Given the description of an element on the screen output the (x, y) to click on. 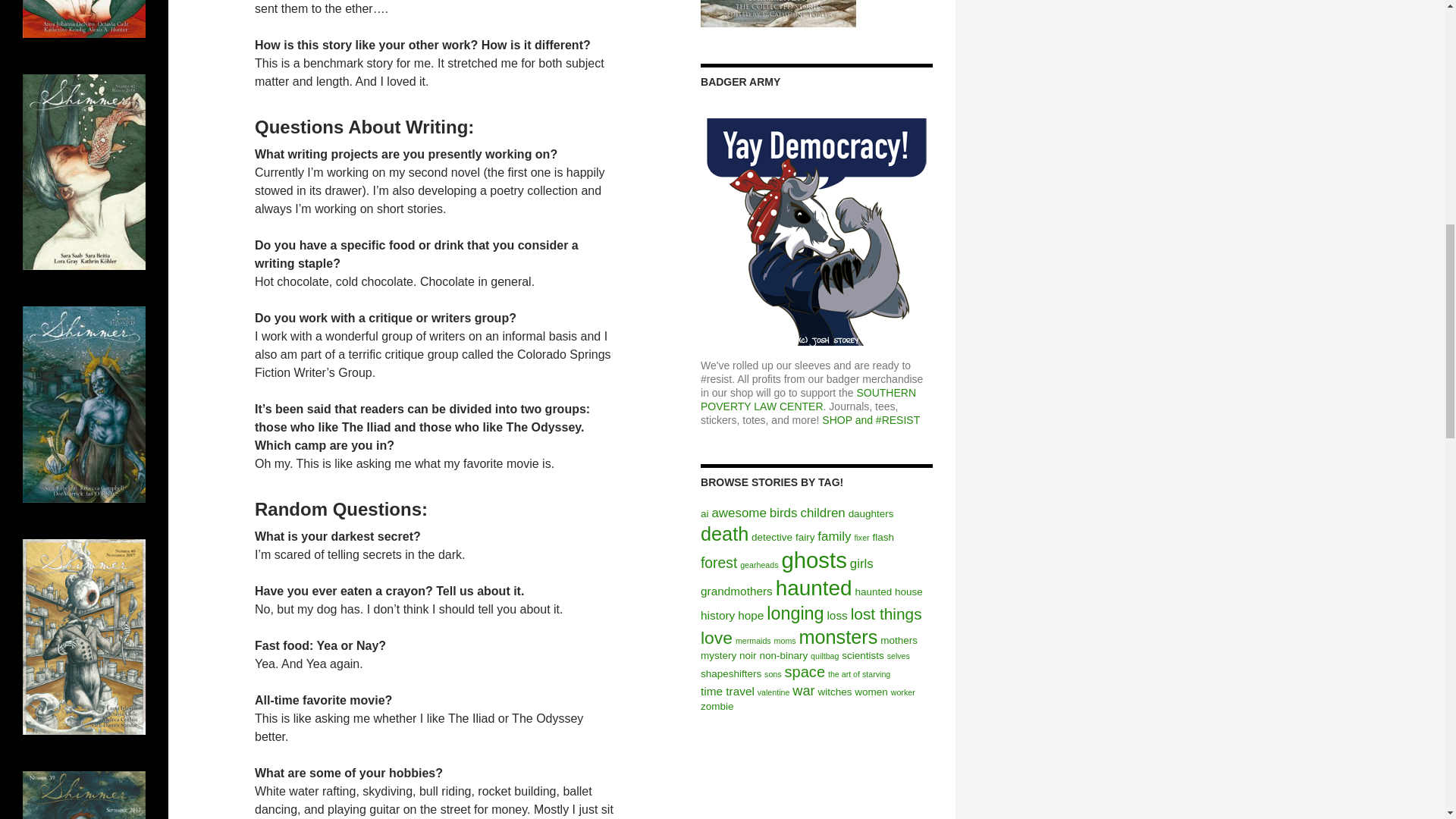
SOUTHERN POVERTY LAW CENTER (807, 399)
birds (783, 513)
family (833, 536)
children (821, 513)
awesome (739, 513)
daughters (870, 513)
detective (771, 536)
fairy (803, 536)
death (724, 533)
